Given the description of an element on the screen output the (x, y) to click on. 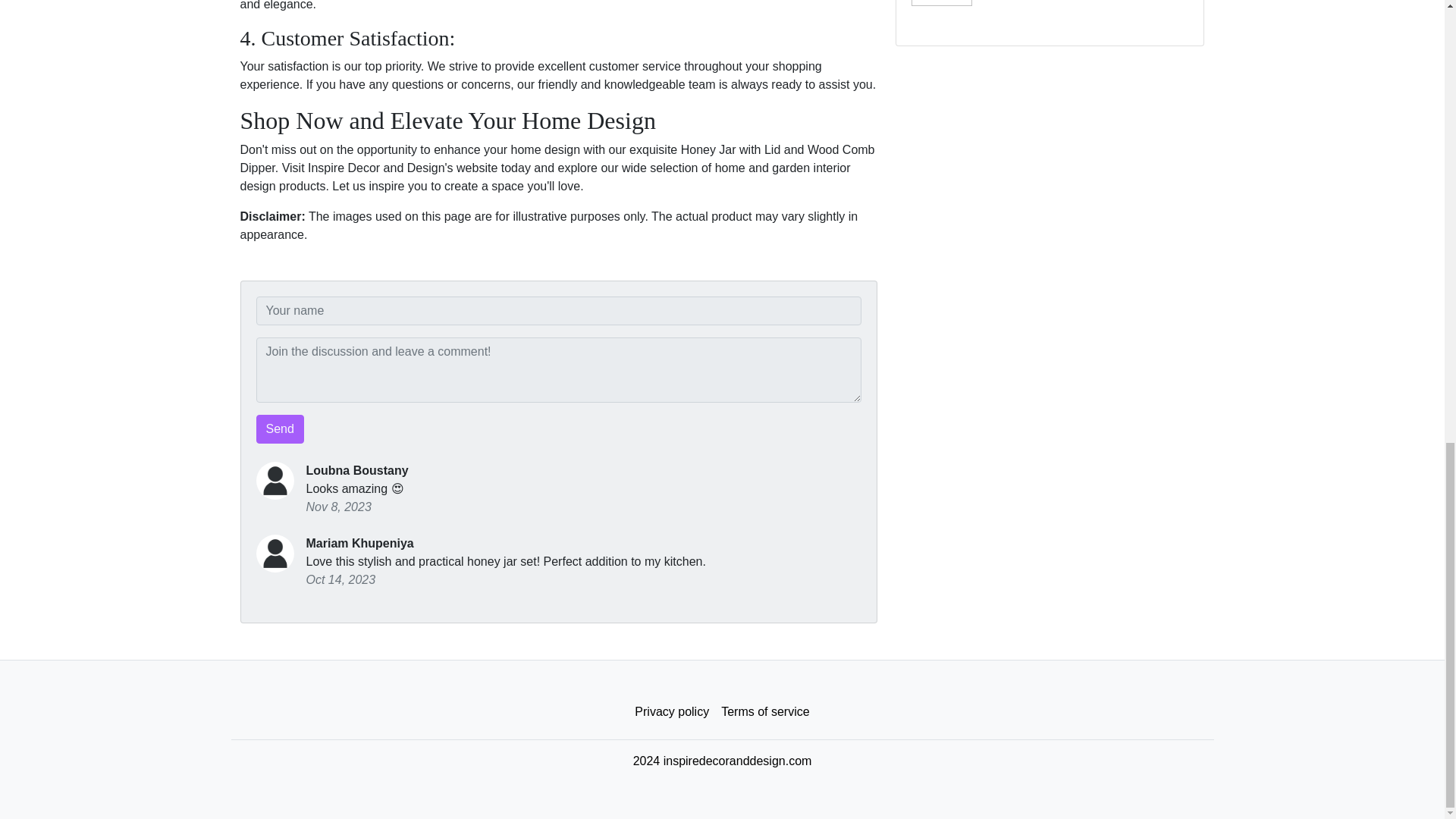
Privacy policy (1050, 9)
Send (671, 711)
Send (280, 428)
Terms of service (280, 428)
